Given the description of an element on the screen output the (x, y) to click on. 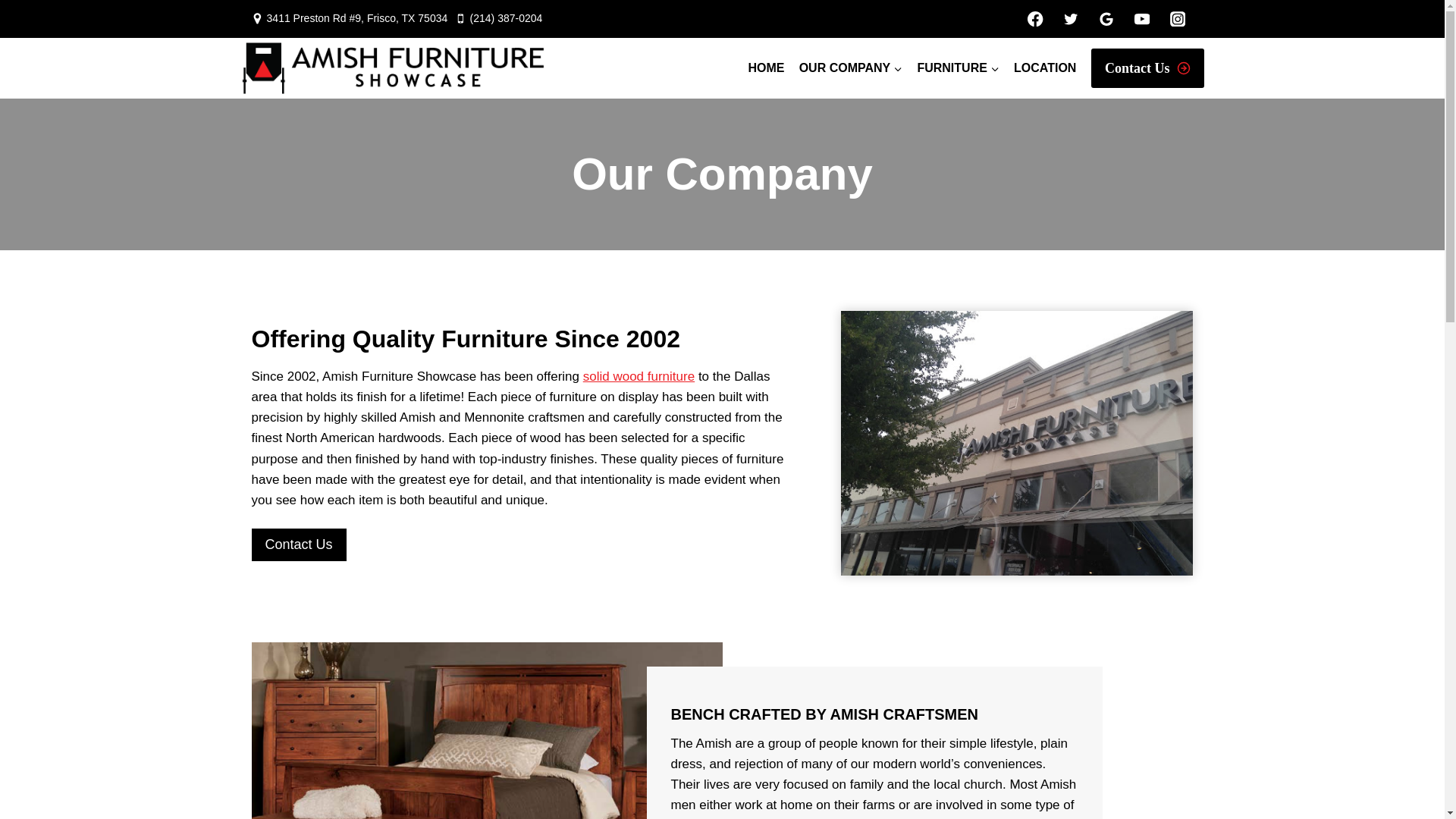
HOME (766, 68)
Amish Furniture Showcase (1017, 443)
solid wood furniture (638, 376)
Contact Us (1147, 68)
FURNITURE (958, 68)
OUR COMPANY (851, 68)
Contact Us (298, 544)
LOCATION (1044, 68)
